Given the description of an element on the screen output the (x, y) to click on. 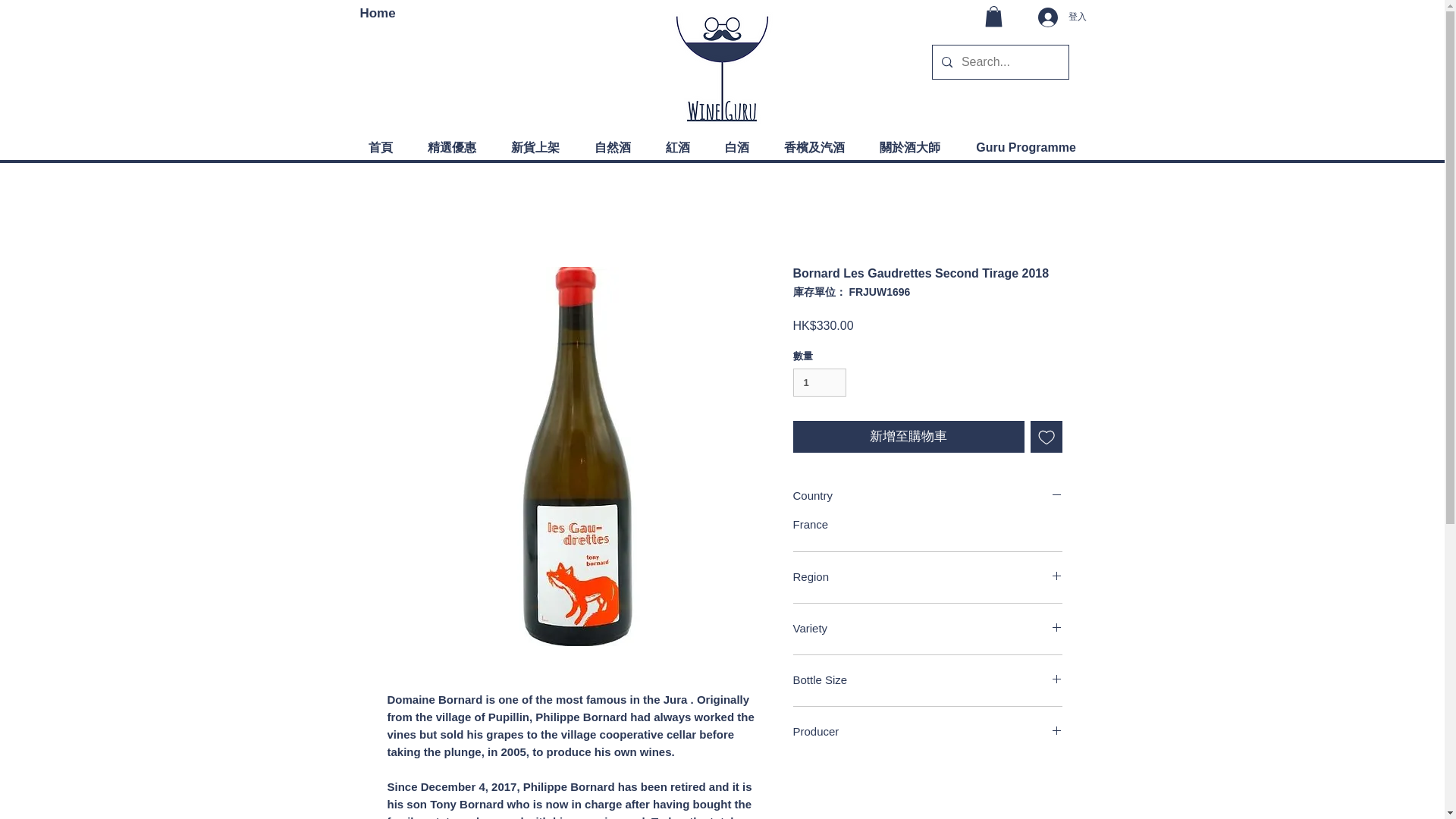
Home (376, 12)
1 (820, 382)
